Given the description of an element on the screen output the (x, y) to click on. 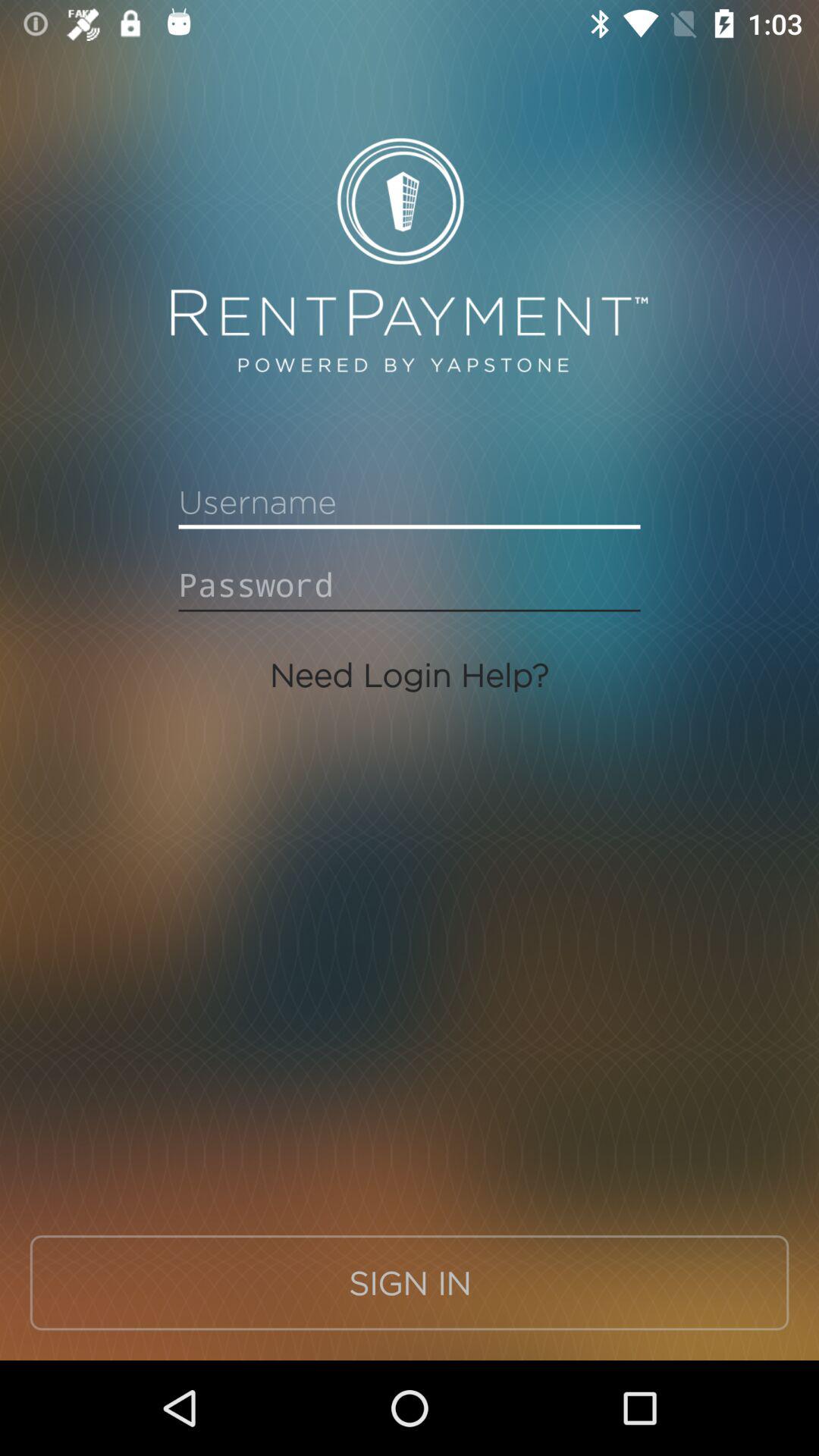
username text input (409, 501)
